Given the description of an element on the screen output the (x, y) to click on. 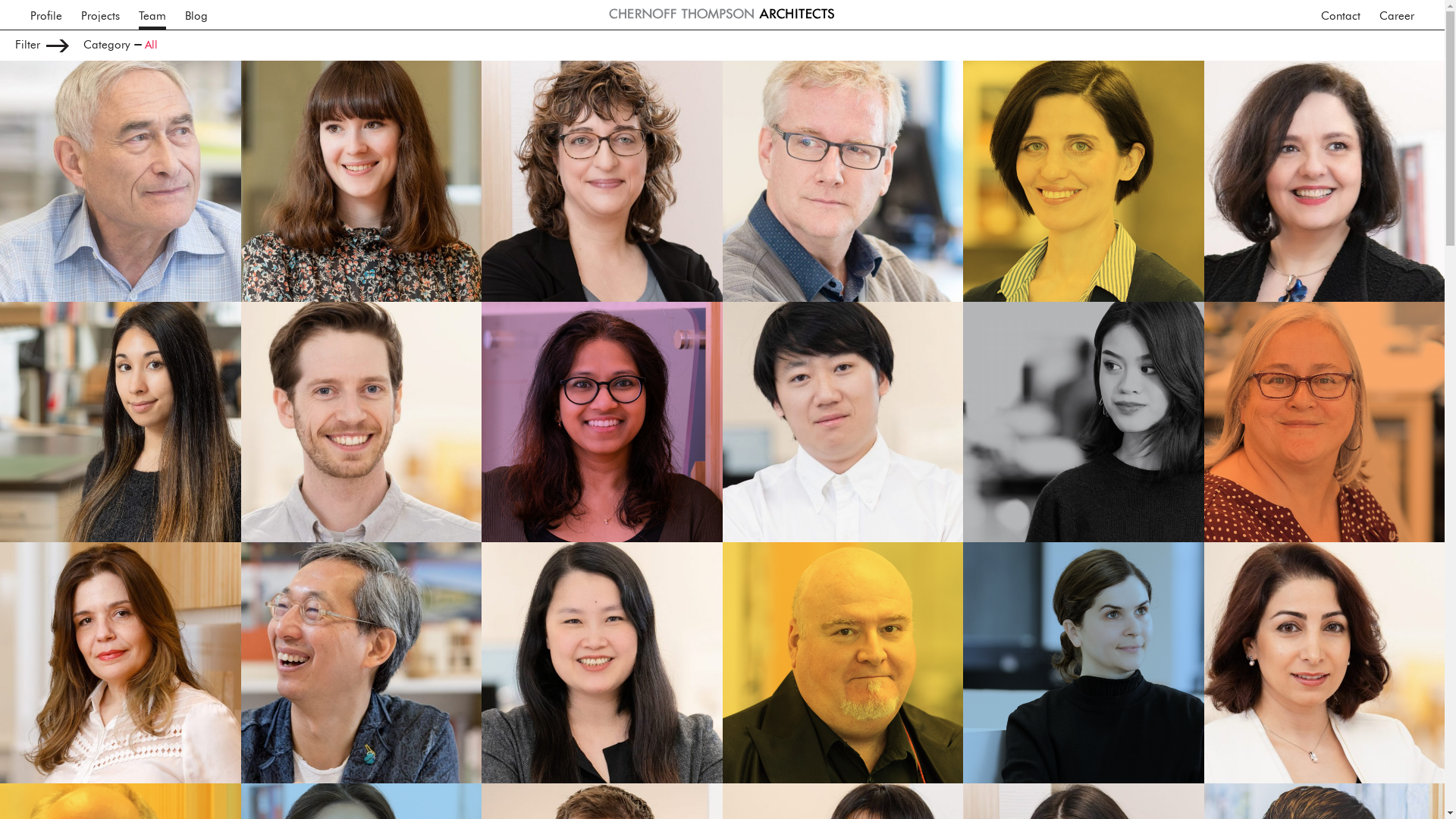
Career Element type: text (1396, 14)
All Element type: text (150, 45)
Profile Element type: text (46, 14)
Contact Element type: text (1340, 14)
Blog Element type: text (196, 14)
Projects Element type: text (100, 14)
Team Element type: text (152, 14)
Chernoff Thompson Logo Element type: hover (721, 13)
